Given the description of an element on the screen output the (x, y) to click on. 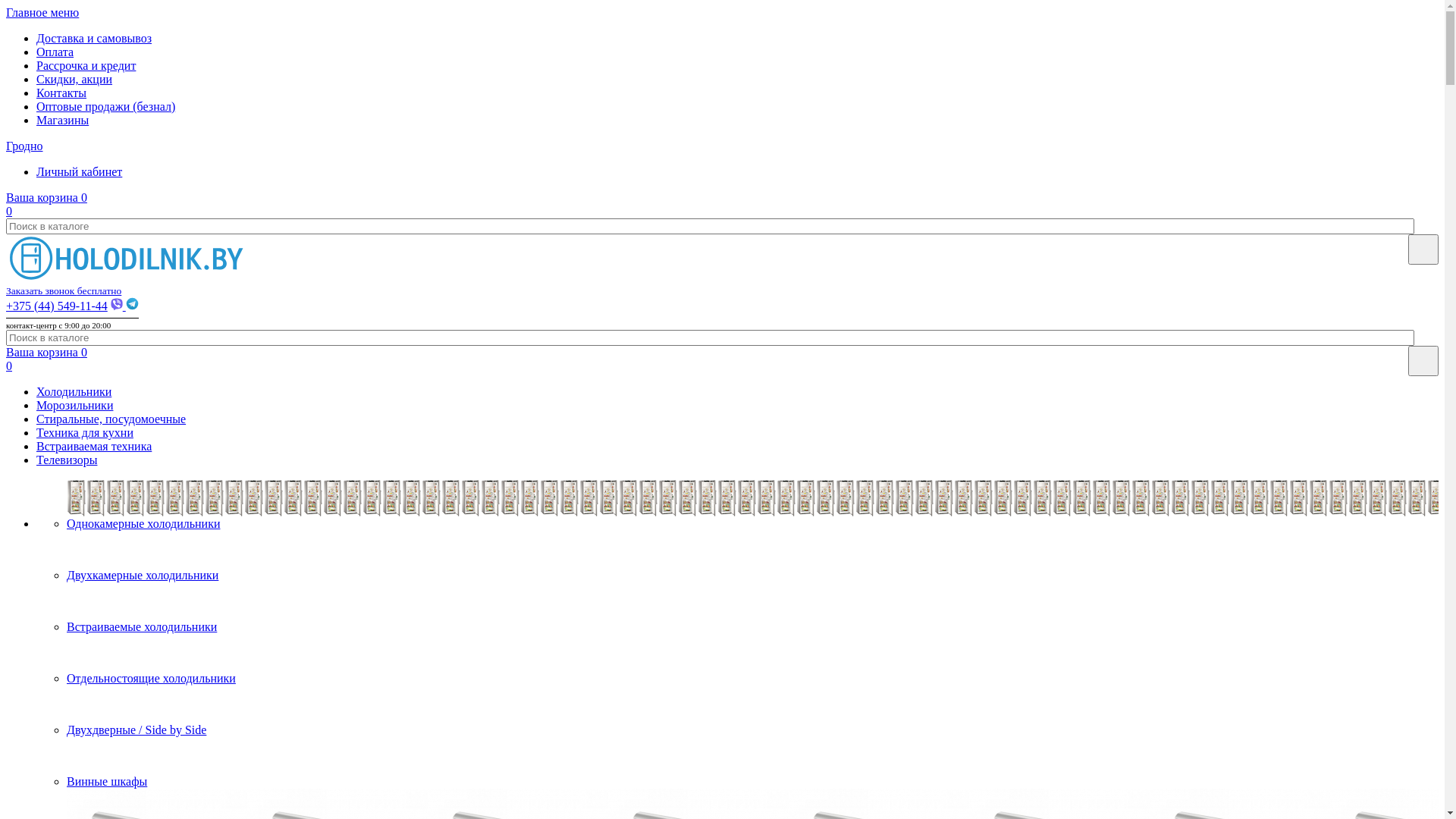
0 Element type: text (9, 365)
Telegram Element type: hover (131, 305)
Viber Element type: hover (117, 305)
0 Element type: text (9, 210)
+375 (44) 549-11-44 Element type: text (56, 305)
